Given the description of an element on the screen output the (x, y) to click on. 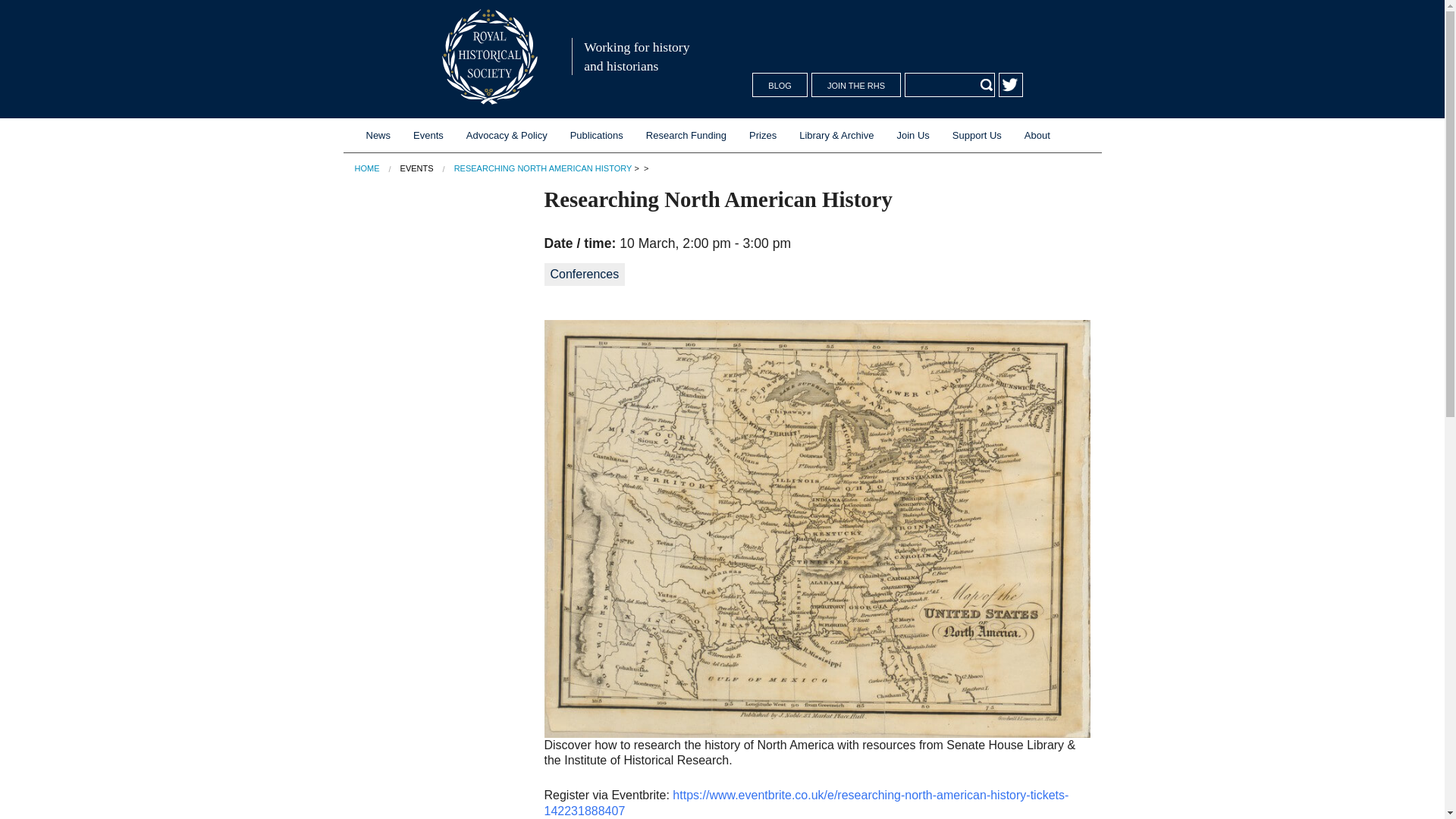
News (379, 134)
Research Funding (686, 134)
Events (427, 134)
Join Us (912, 134)
JOIN THE RHS (855, 84)
Conferences (585, 273)
Go to RHS. (367, 168)
BLOG (780, 84)
Prizes (762, 134)
Support Us (976, 134)
HOME (367, 168)
Publications (596, 134)
Go to Events. (416, 167)
About (1037, 134)
EVENTS (416, 167)
